Given the description of an element on the screen output the (x, y) to click on. 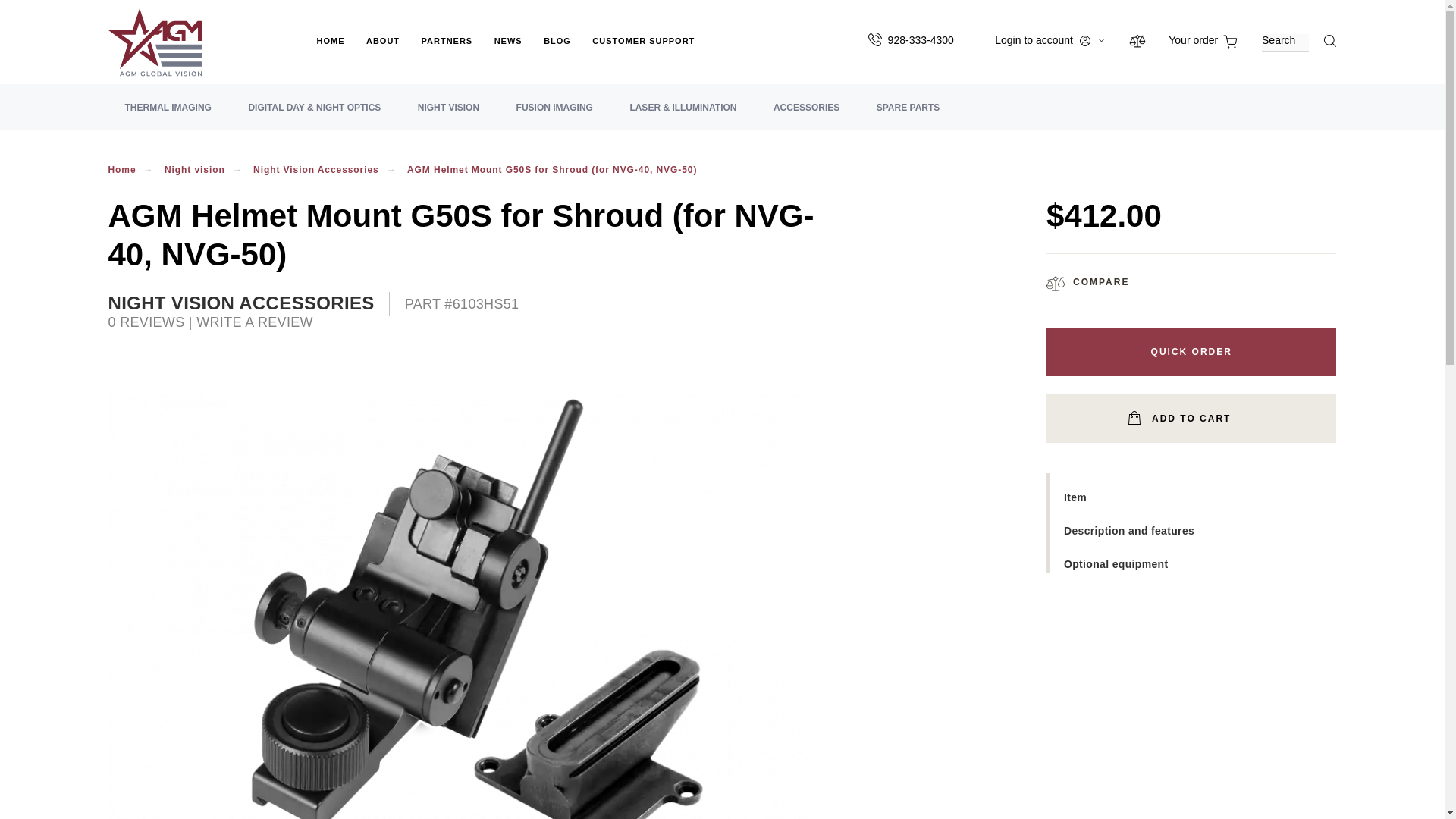
THERMAL IMAGING (167, 115)
PARTNERS (447, 54)
ACCESSORIES (806, 115)
CUSTOMER SUPPORT (643, 54)
928-333-4300 (920, 39)
FUSION IMAGING (554, 115)
NIGHT VISION (448, 115)
Your order (1204, 39)
ABOUT (382, 54)
